Given the description of an element on the screen output the (x, y) to click on. 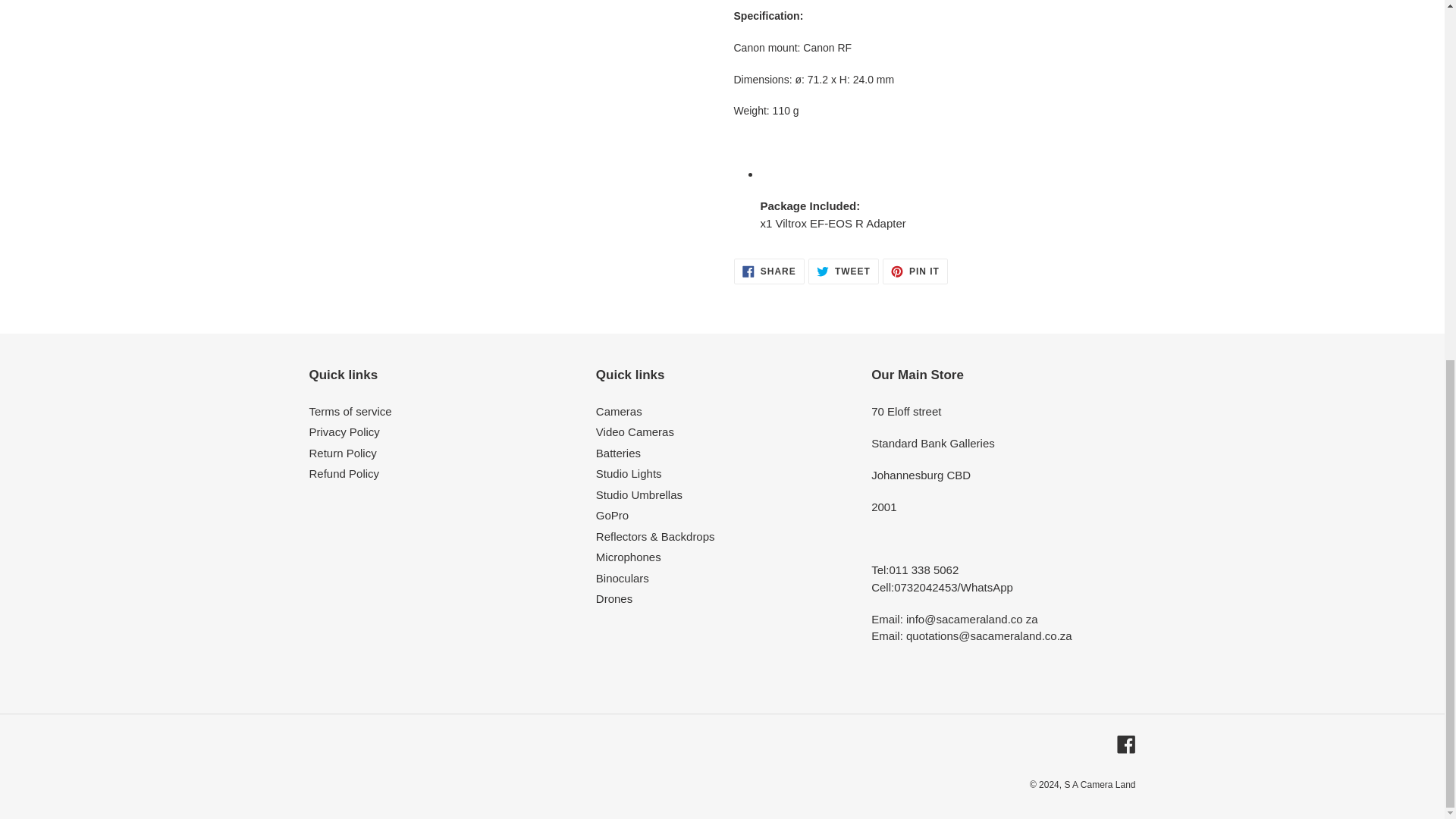
GoPro (611, 514)
Binoculars (769, 271)
Batteries (622, 577)
Facebook (617, 452)
Return Policy (1125, 743)
Terms of service (914, 271)
Drones (342, 452)
Cameras (843, 271)
Video Cameras (349, 410)
Privacy Policy (613, 598)
Studio Umbrellas (618, 410)
Refund Policy (634, 431)
